Given the description of an element on the screen output the (x, y) to click on. 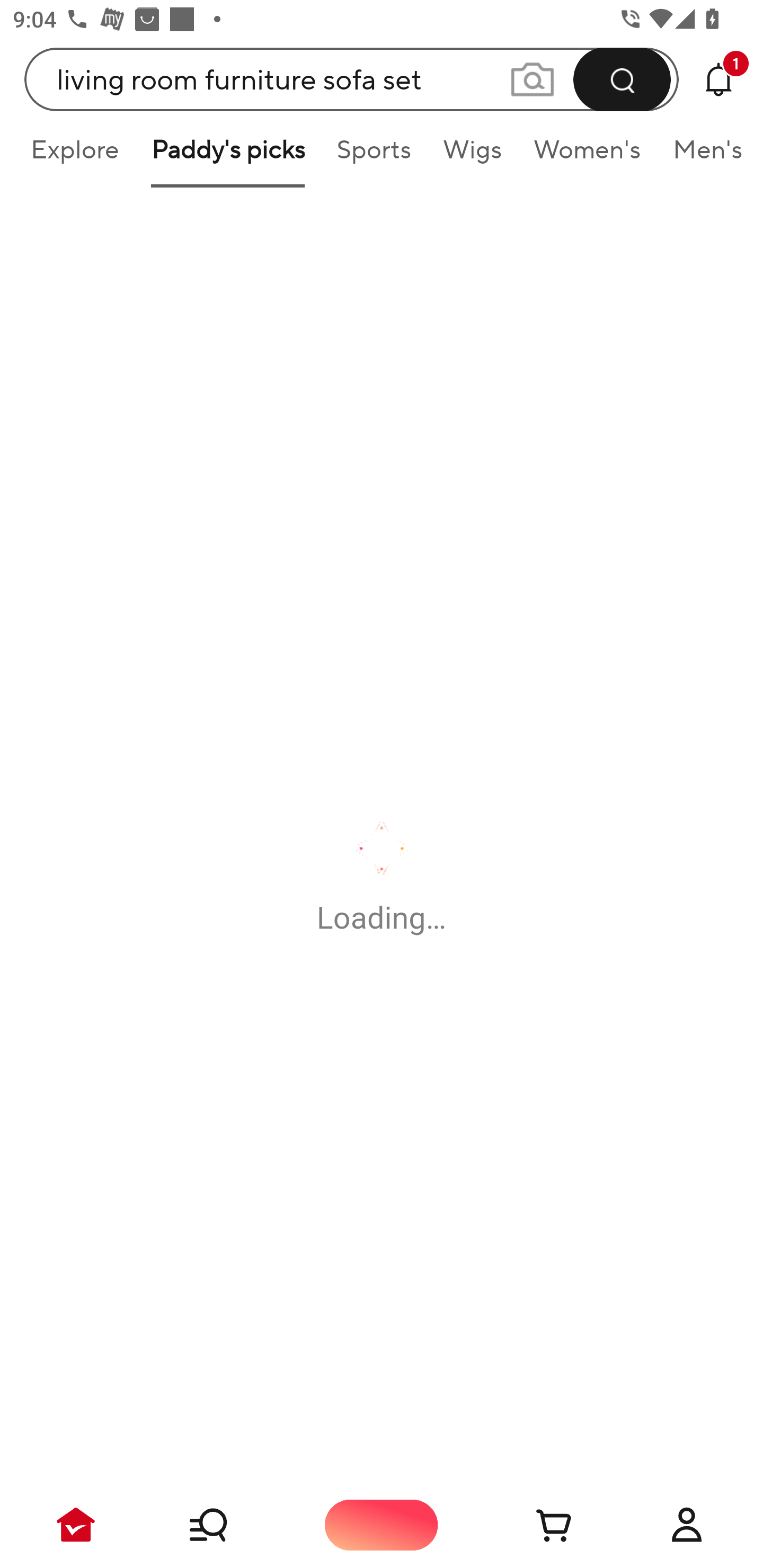
living room furniture sofa set (351, 79)
Explore (74, 155)
Sports (373, 155)
Wigs (472, 155)
Women's (586, 155)
Men's (701, 155)
Shop (228, 1524)
Cart (533, 1524)
Account (686, 1524)
